Given the description of an element on the screen output the (x, y) to click on. 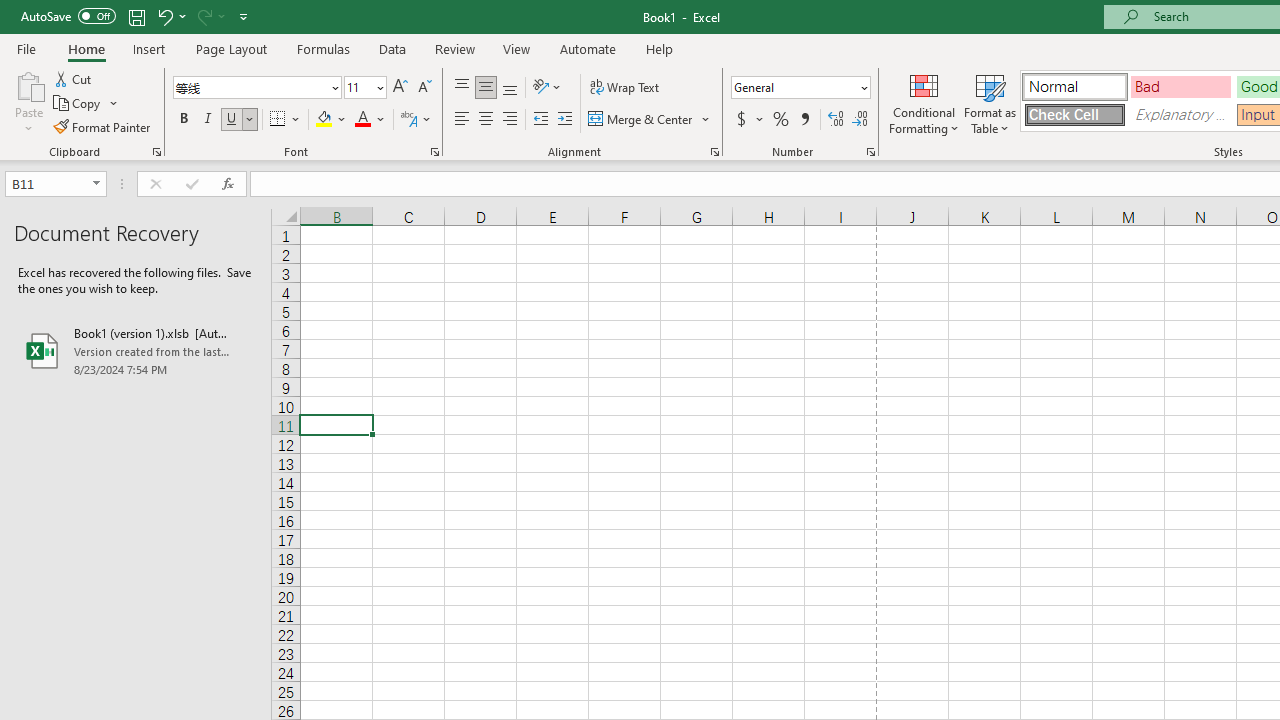
Bad (1180, 86)
Format Cell Font (434, 151)
Underline (232, 119)
Font Size (358, 87)
Borders (285, 119)
Increase Font Size (399, 87)
Merge & Center (649, 119)
Font Color RGB(255, 0, 0) (362, 119)
